Given the description of an element on the screen output the (x, y) to click on. 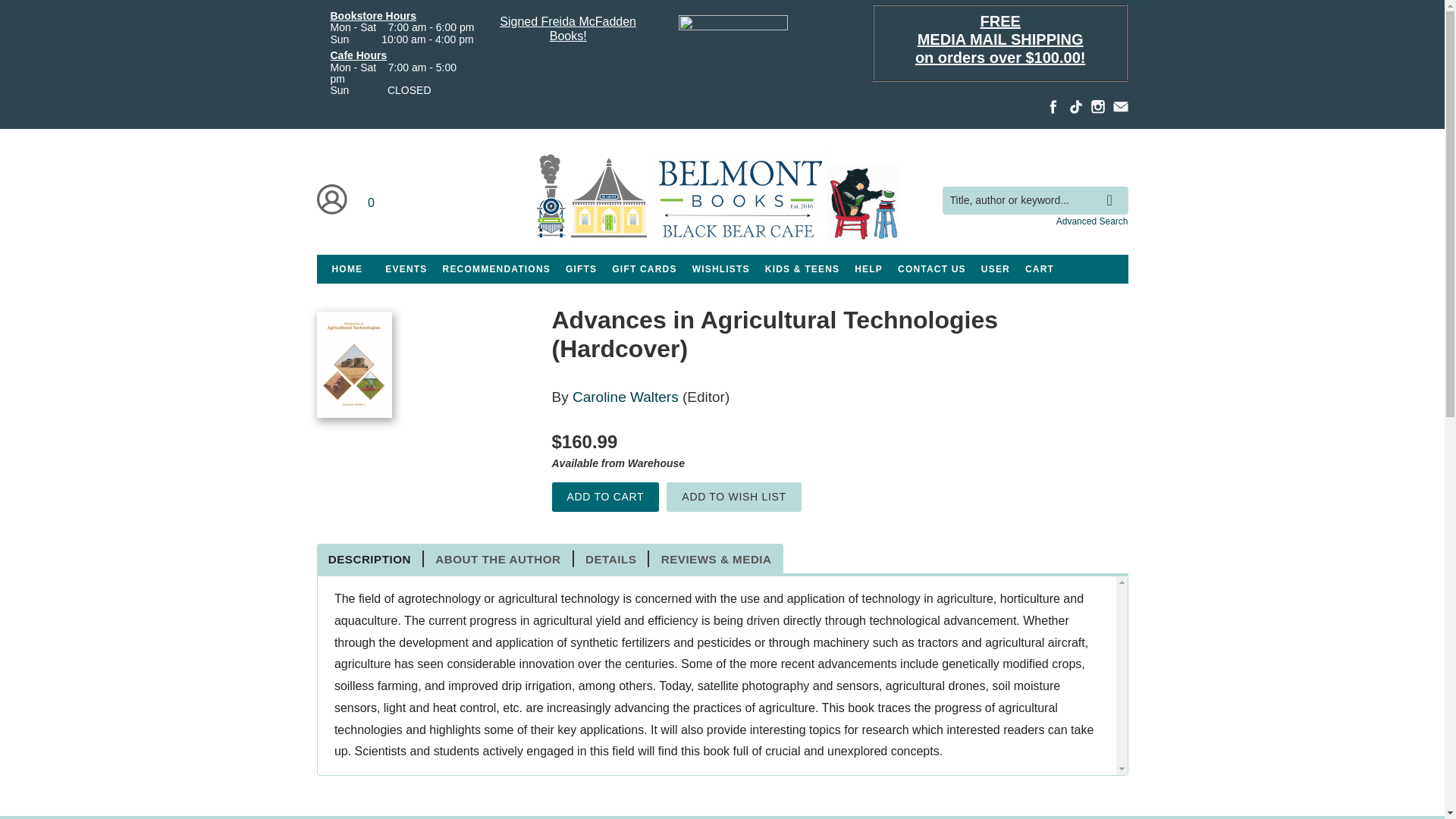
EVENTS (405, 268)
Add to Cart (605, 496)
Title, author or keyword... (1034, 200)
Signed Freida McFadden Books! (567, 29)
RECOMMENDATIONS (496, 268)
search (1112, 188)
Advanced Search (1092, 221)
GIFTS (580, 268)
Home (721, 200)
Events at Belmont Books (405, 268)
HOME (347, 268)
search (1112, 188)
